Given the description of an element on the screen output the (x, y) to click on. 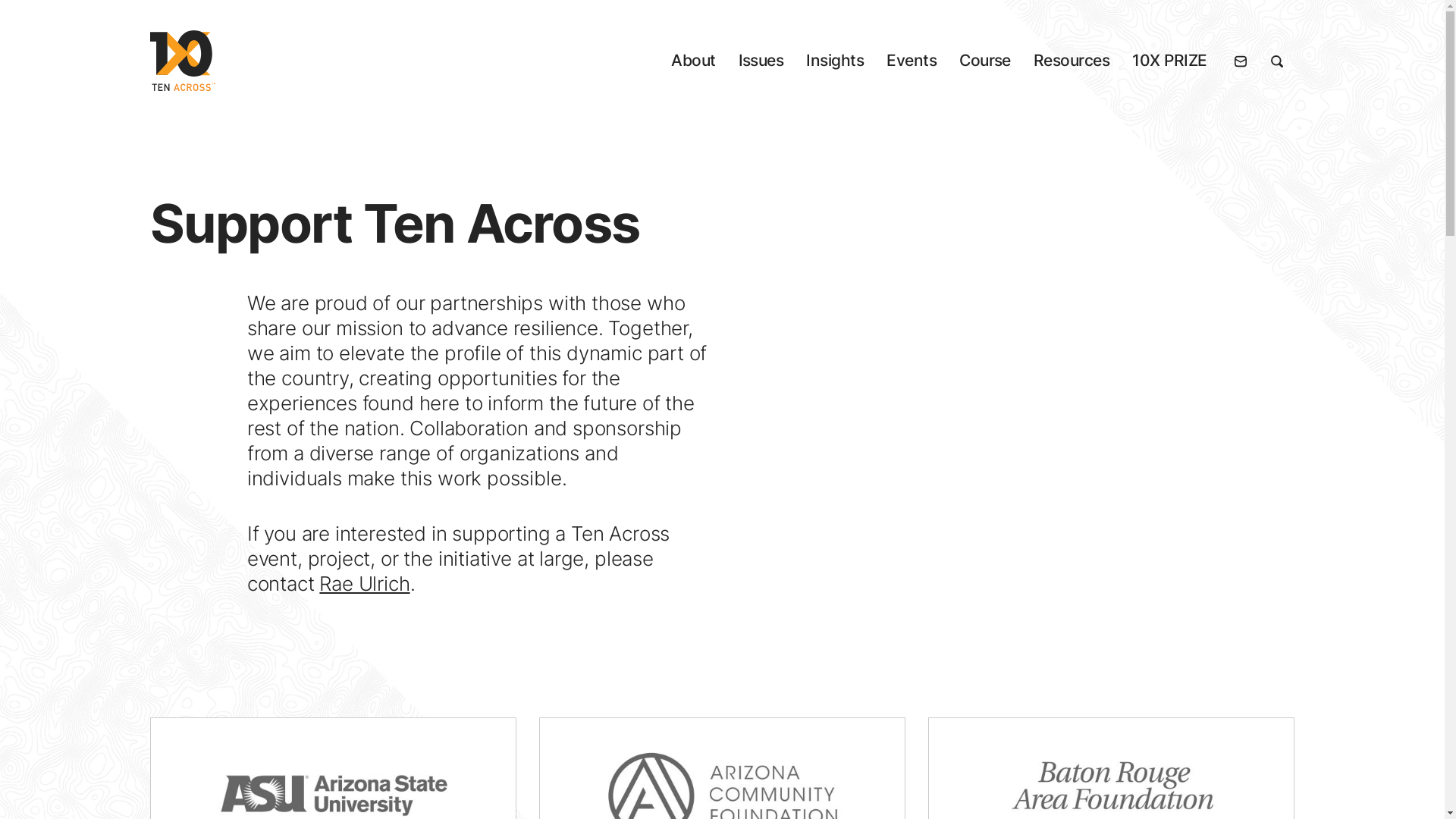
Course Element type: text (984, 60)
Rae Ulrich Element type: text (364, 583)
10X PRIZE Element type: text (1169, 60)
Insights Element type: text (834, 60)
Issues Element type: text (761, 60)
Resources Element type: text (1071, 60)
Events Element type: text (911, 60)
About Element type: text (693, 60)
